Given the description of an element on the screen output the (x, y) to click on. 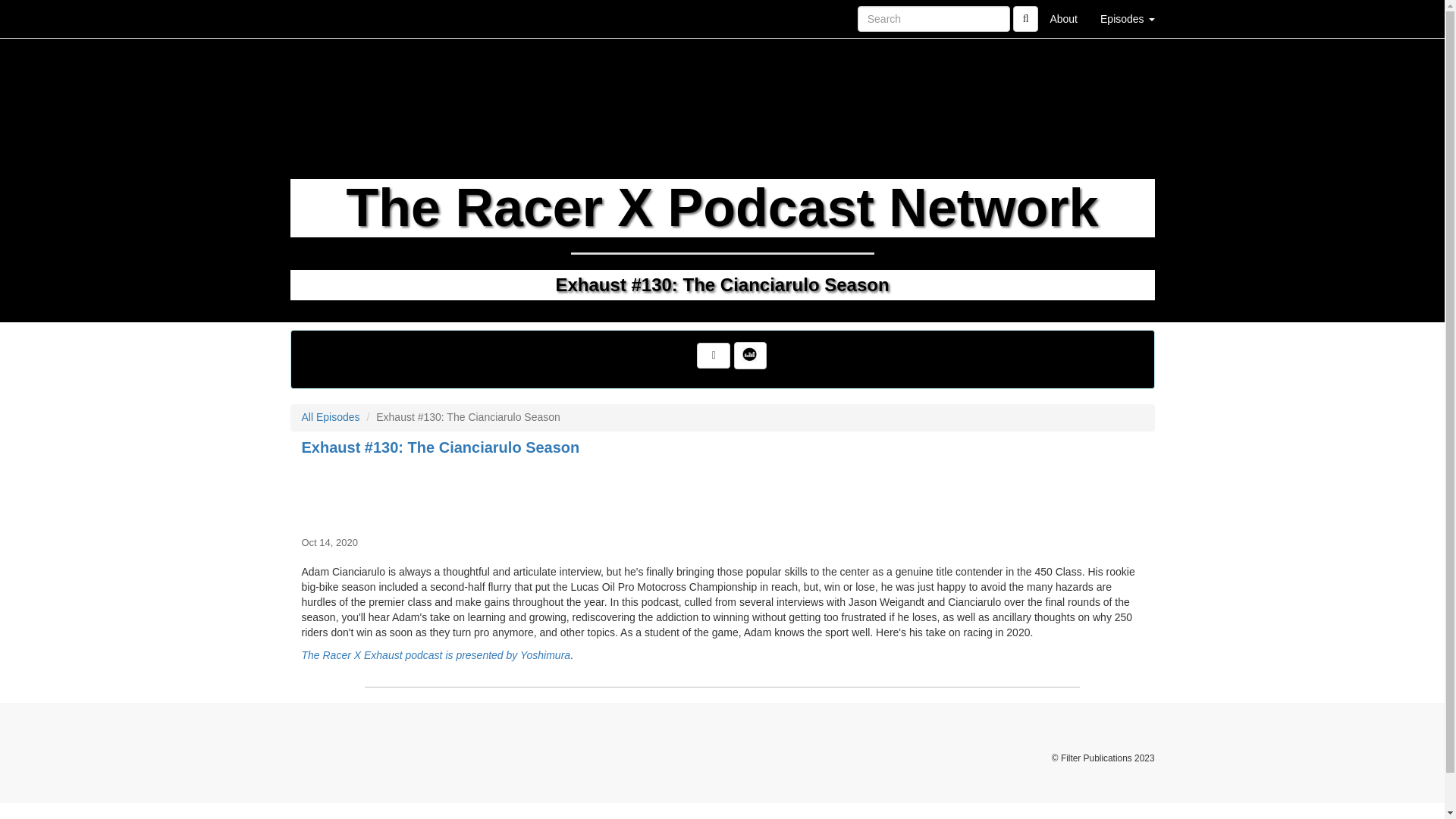
Episodes (1127, 18)
Subscribe to RSS Feed (713, 355)
Listen on Deezer (749, 355)
About (1063, 18)
Home Page (320, 18)
